Given the description of an element on the screen output the (x, y) to click on. 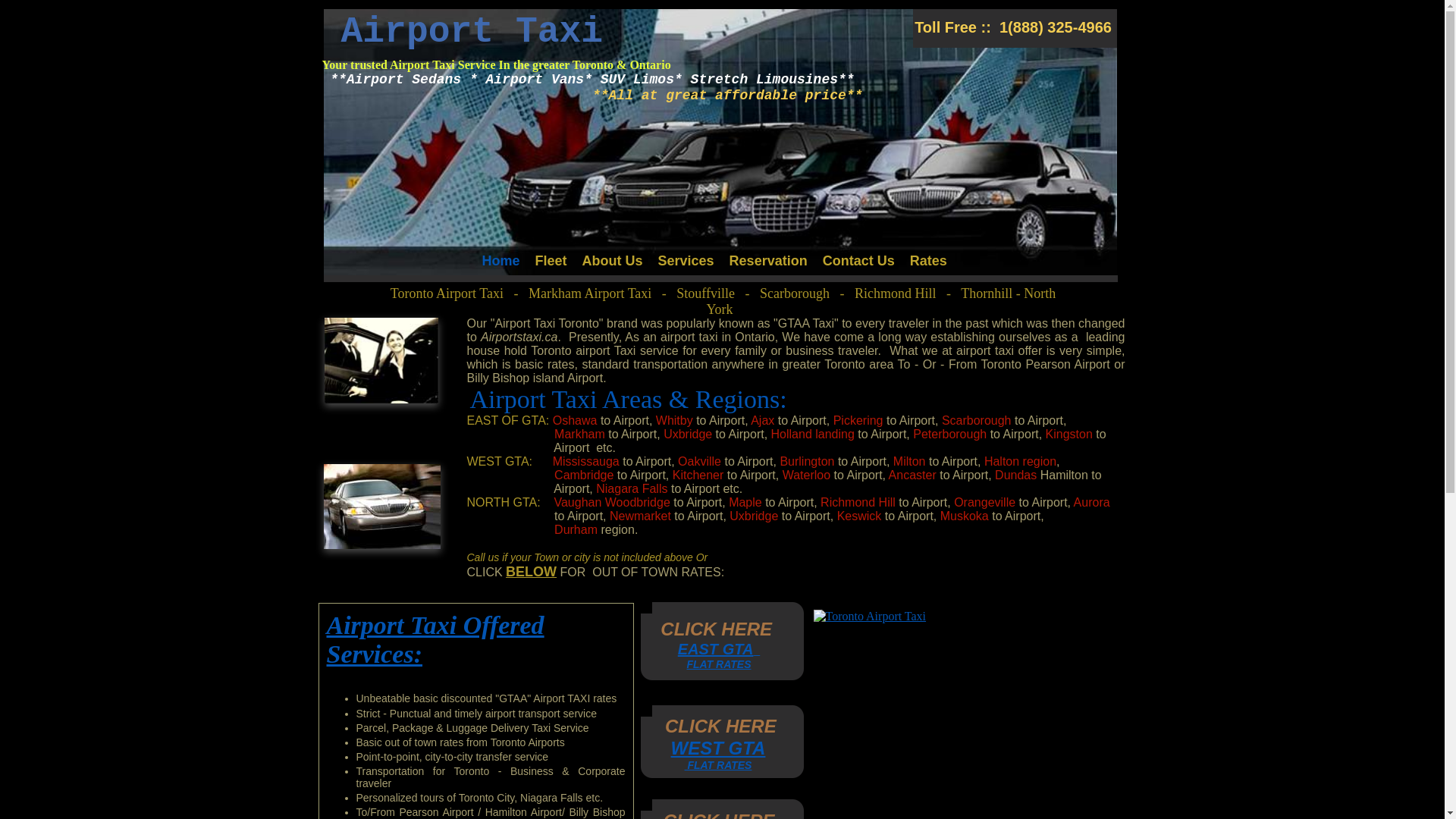
WEST GTA Element type: text (718, 747)
EAST GTA Element type: text (715, 648)
Reservation Element type: text (768, 264)
Home Element type: text (504, 264)
Airport Taxi Toronto, Ontario Element type: hover (381, 360)
Contact Us Element type: text (858, 264)
 FLAT RATES Element type: text (718, 765)
Fleet Element type: text (550, 264)
Rates Element type: text (924, 264)
Services Element type: text (685, 264)
   Element type: text (756, 649)
Airport Taxi Toronto Element type: hover (381, 506)
FLAT RATES Element type: text (718, 664)
About Us Element type: text (612, 264)
